Given the description of an element on the screen output the (x, y) to click on. 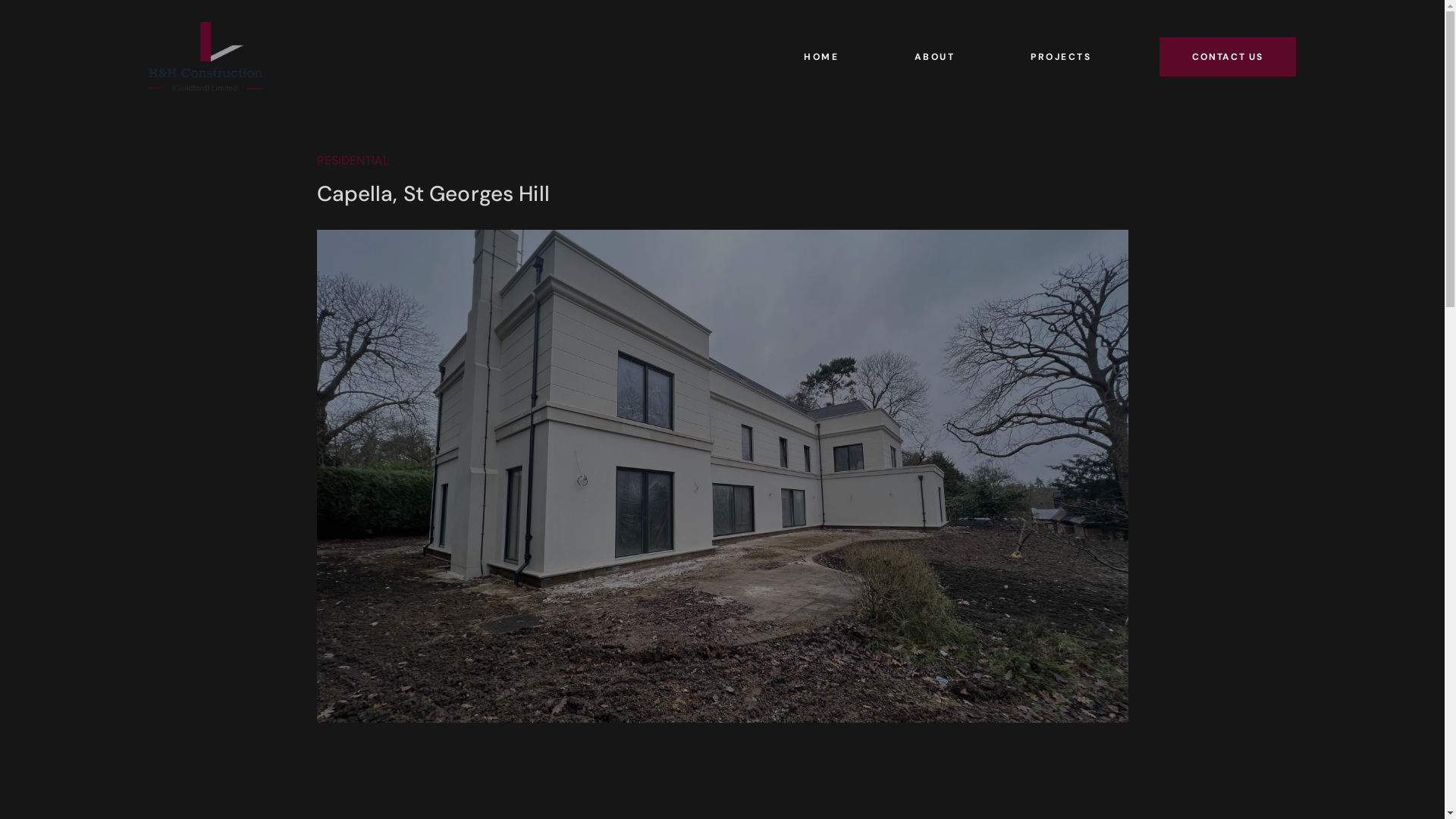
HOME Element type: text (820, 56)
Main Photo Element type: hover (722, 475)
CONTACT US Element type: text (1227, 56)
ABOUT Element type: text (934, 56)
PROJECTS Element type: text (1060, 56)
